Given the description of an element on the screen output the (x, y) to click on. 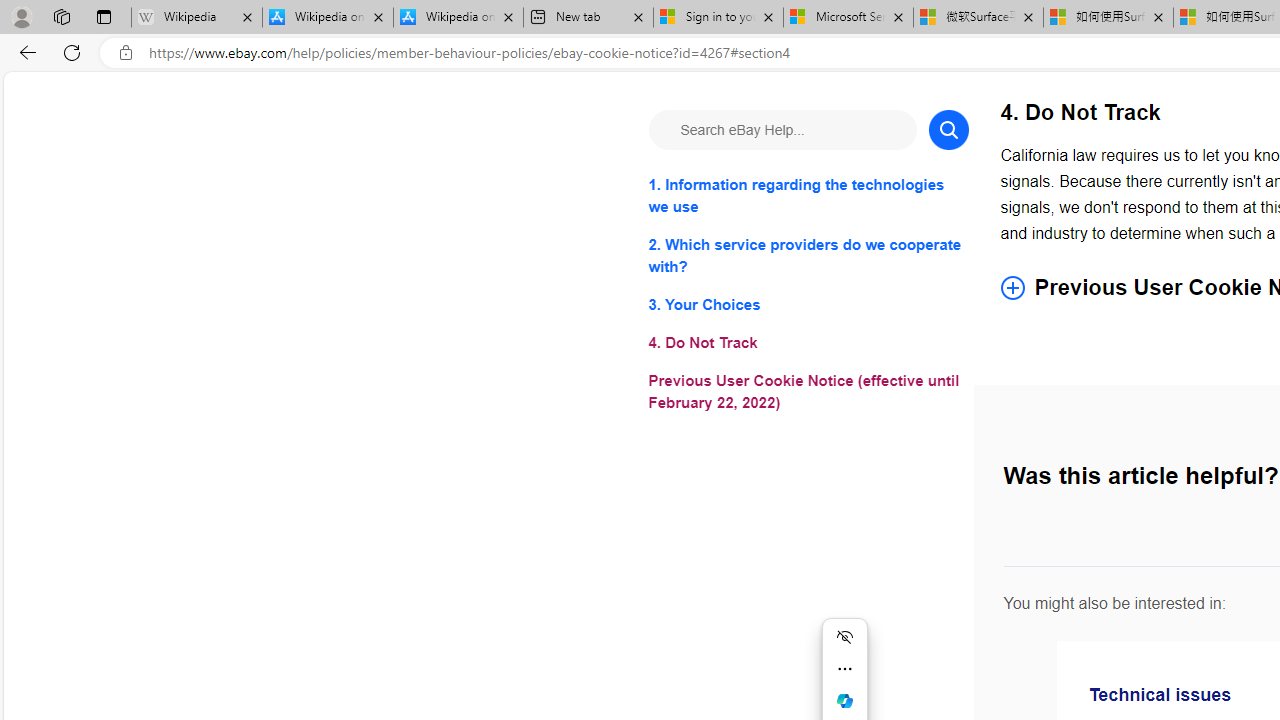
Ask Copilot (844, 700)
More actions (844, 668)
4. Do Not Track (807, 342)
1. Information regarding the technologies we use (807, 196)
3. Your Choices (807, 304)
4. Do Not Track (807, 342)
